Given the description of an element on the screen output the (x, y) to click on. 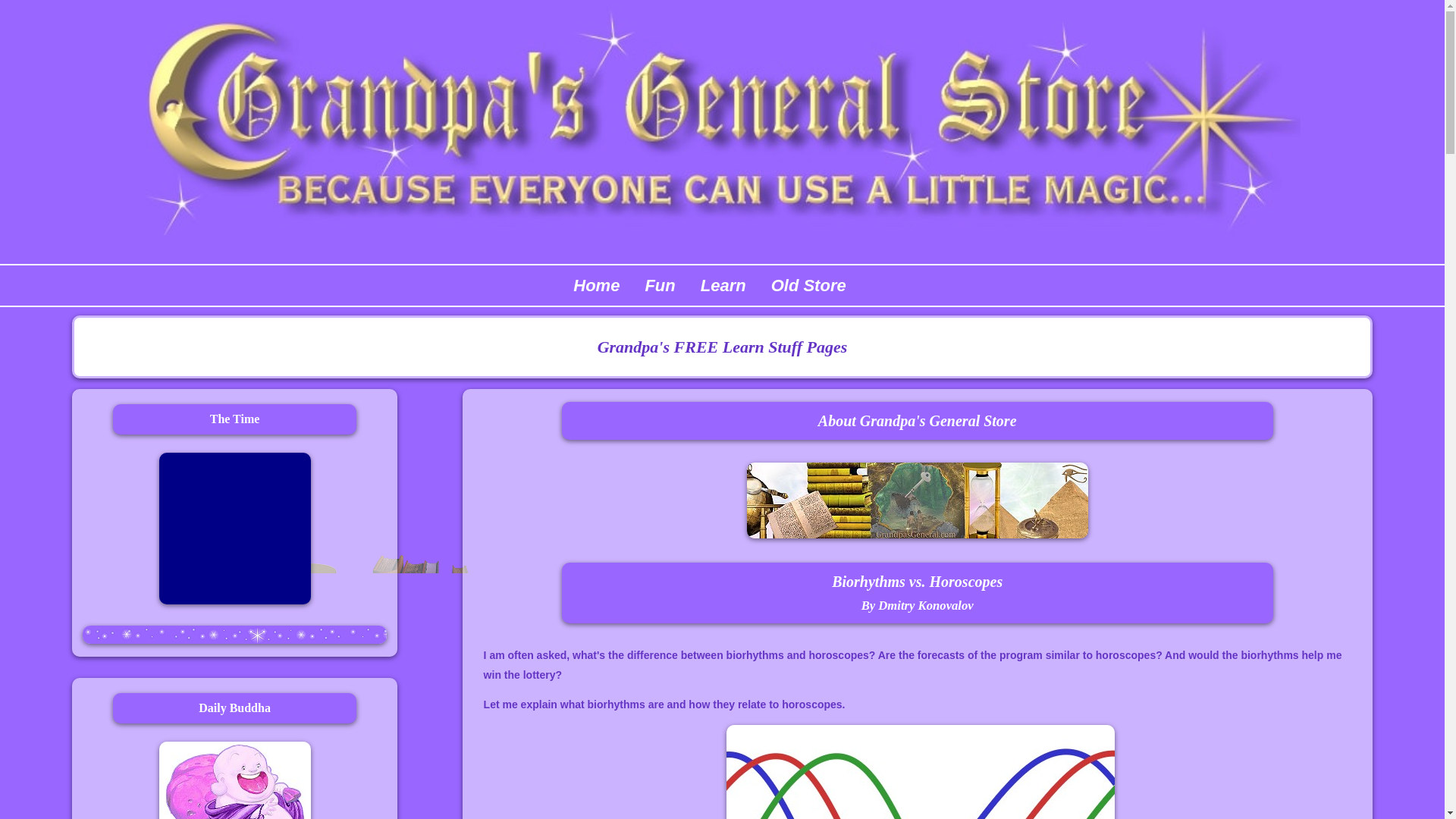
Home (596, 285)
Fun (660, 285)
Old Store (808, 285)
Learn (722, 285)
Daily Buddha Image (234, 780)
